Given the description of an element on the screen output the (x, y) to click on. 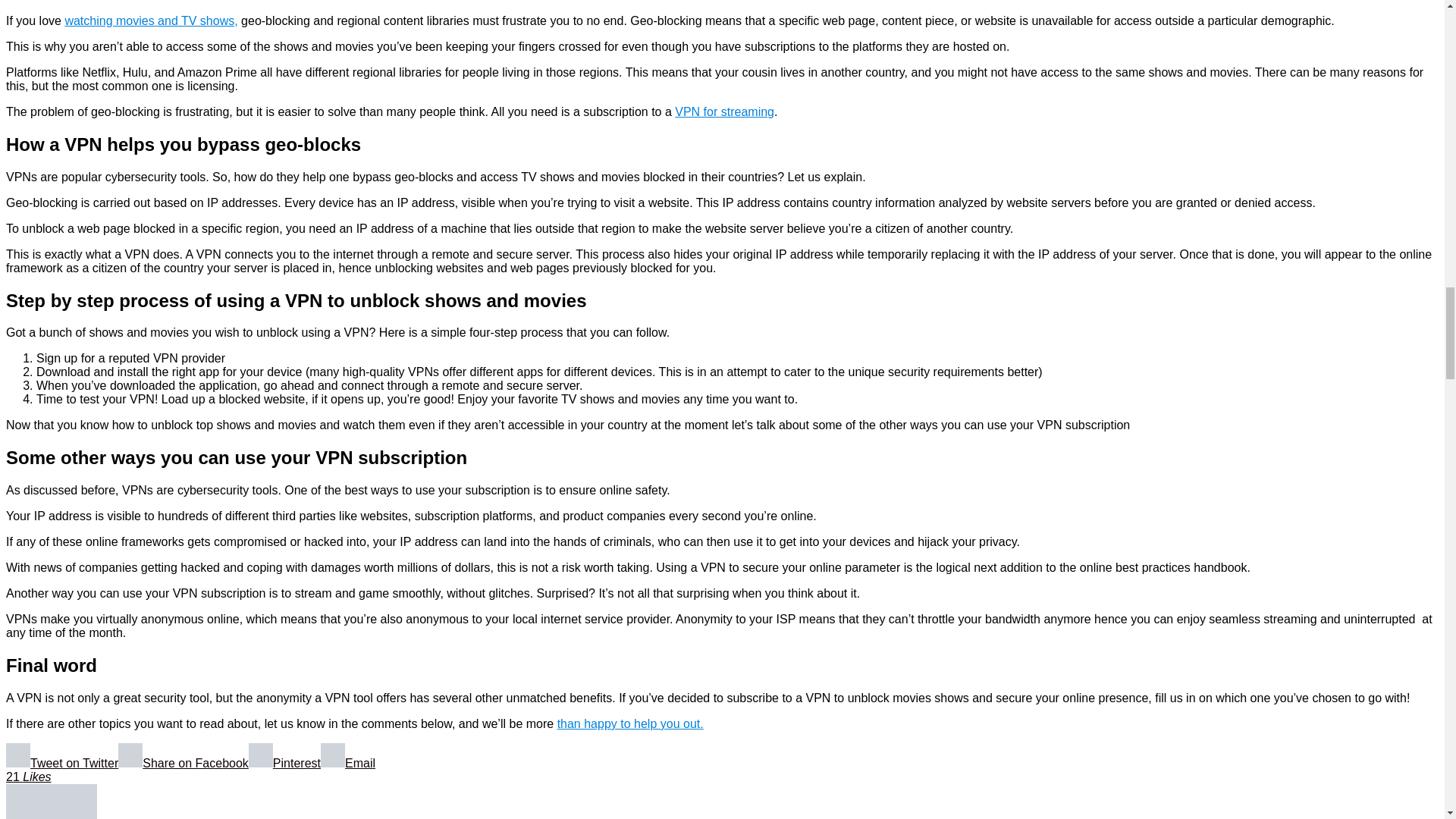
Like this post (27, 776)
